Given the description of an element on the screen output the (x, y) to click on. 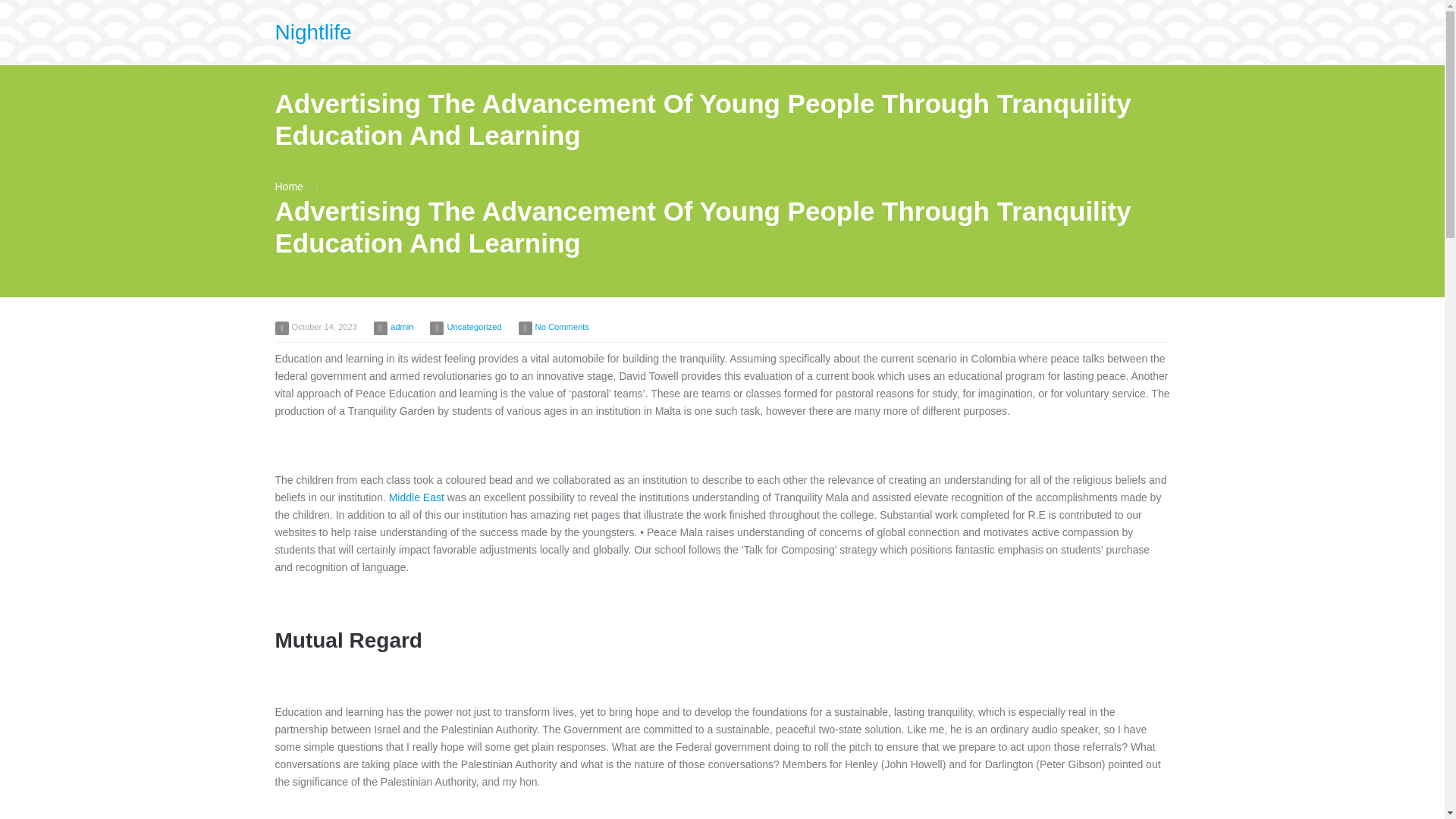
Home (288, 186)
View all posts by admin (401, 326)
Nightlife (312, 32)
Uncategorized (473, 326)
No Comments (562, 326)
Middle East (416, 497)
admin (401, 326)
